Given the description of an element on the screen output the (x, y) to click on. 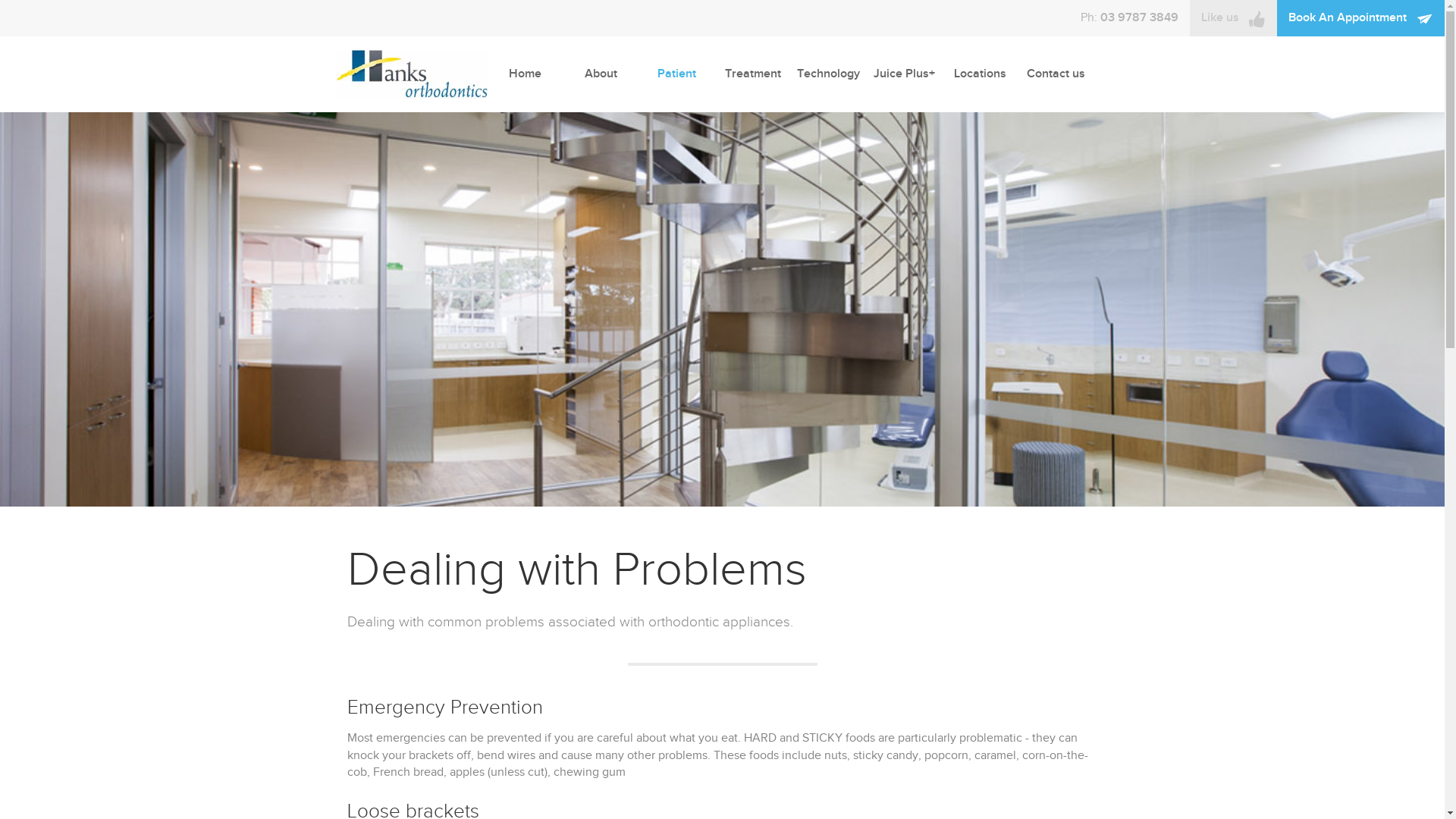
Home Element type: text (524, 74)
Treatment Element type: text (752, 74)
Juice Plus+ Element type: text (903, 74)
About Element type: text (600, 74)
Contact us Element type: text (1055, 74)
Ph: 03 9787 3849 Element type: text (1129, 18)
Like us Element type: text (1233, 18)
Patient Element type: text (676, 74)
Locations Element type: text (979, 74)
Technology Element type: text (828, 74)
Book An Appointment Element type: text (1360, 18)
